Given the description of an element on the screen output the (x, y) to click on. 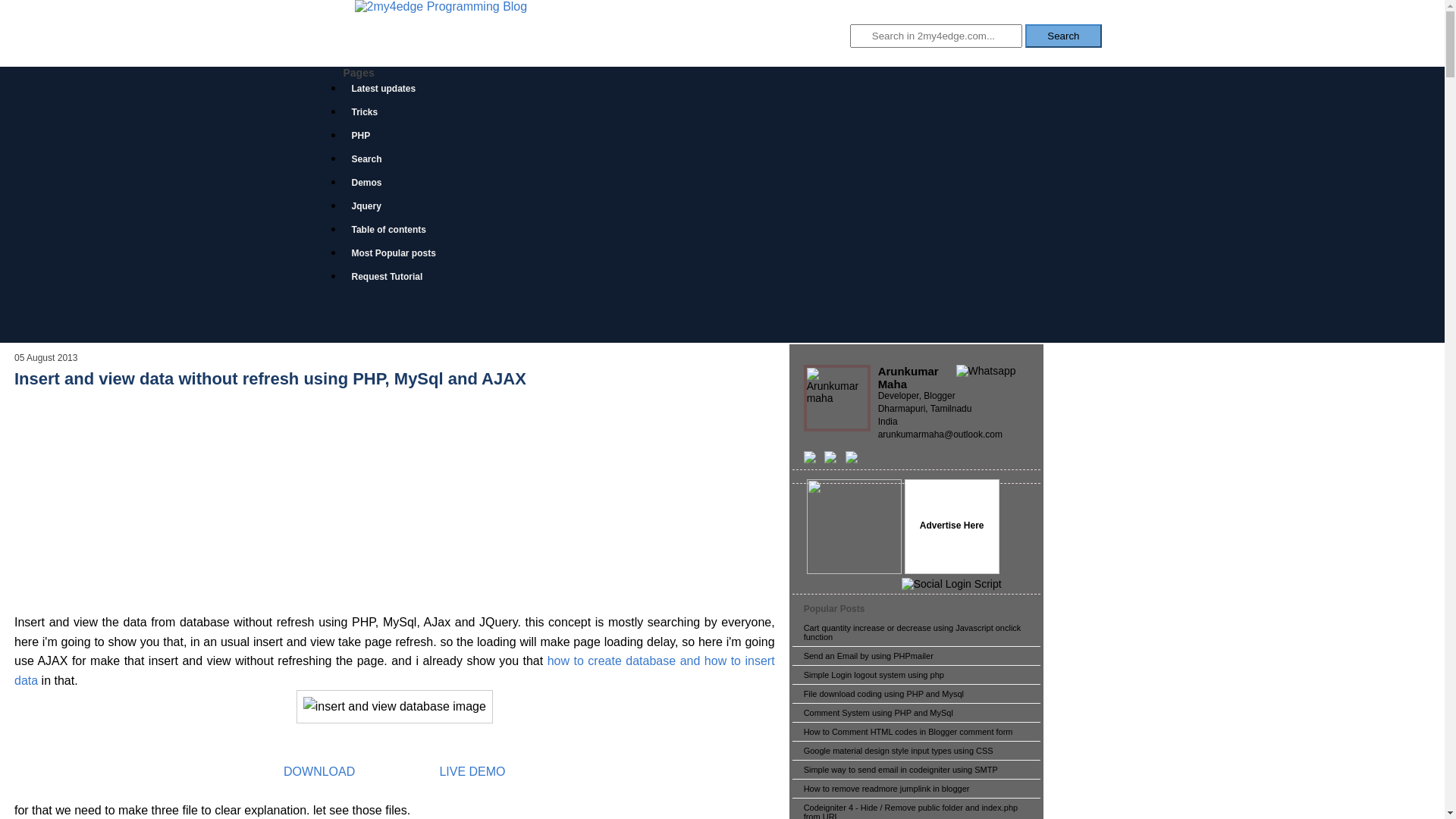
How to Comment HTML codes in Blogger comment form Element type: text (908, 731)
Search Element type: text (1063, 35)
Demos Element type: text (373, 184)
Google material design style input types using CSS Element type: text (898, 750)
As a programmer Element type: hover (853, 527)
Request Tutorial Element type: text (393, 278)
File download coding using PHP and Mysql Element type: text (883, 693)
insert and view database image Element type: hover (394, 706)
Send an Email by using PHPmailer Element type: text (868, 655)
Latest updates Element type: text (390, 90)
PHP Element type: text (367, 137)
Comment System using PHP and MySql Element type: text (878, 712)
arunkumarmaha@outlook.com Element type: text (940, 434)
Simple way to send email in codeigniter using SMTP Element type: text (900, 769)
Advertisement Element type: hover (721, 305)
LIVE DEMO Element type: text (470, 771)
Advertisement Element type: hover (394, 495)
Arunkumar Maha Element type: hover (836, 397)
Simple Login logout system using php Element type: text (873, 674)
Most Popular posts Element type: text (400, 254)
Search Element type: text (373, 160)
DOWNLOAD Element type: text (318, 771)
how to create database and how to insert data Element type: text (394, 670)
Arunkumar Maha Element type: text (908, 377)
Jquery Element type: text (372, 207)
Tricks Element type: text (371, 113)
Table of contents Element type: text (395, 231)
Advertise Here Element type: text (951, 526)
How to remove readmore jumplink in blogger Element type: text (886, 788)
